Given the description of an element on the screen output the (x, y) to click on. 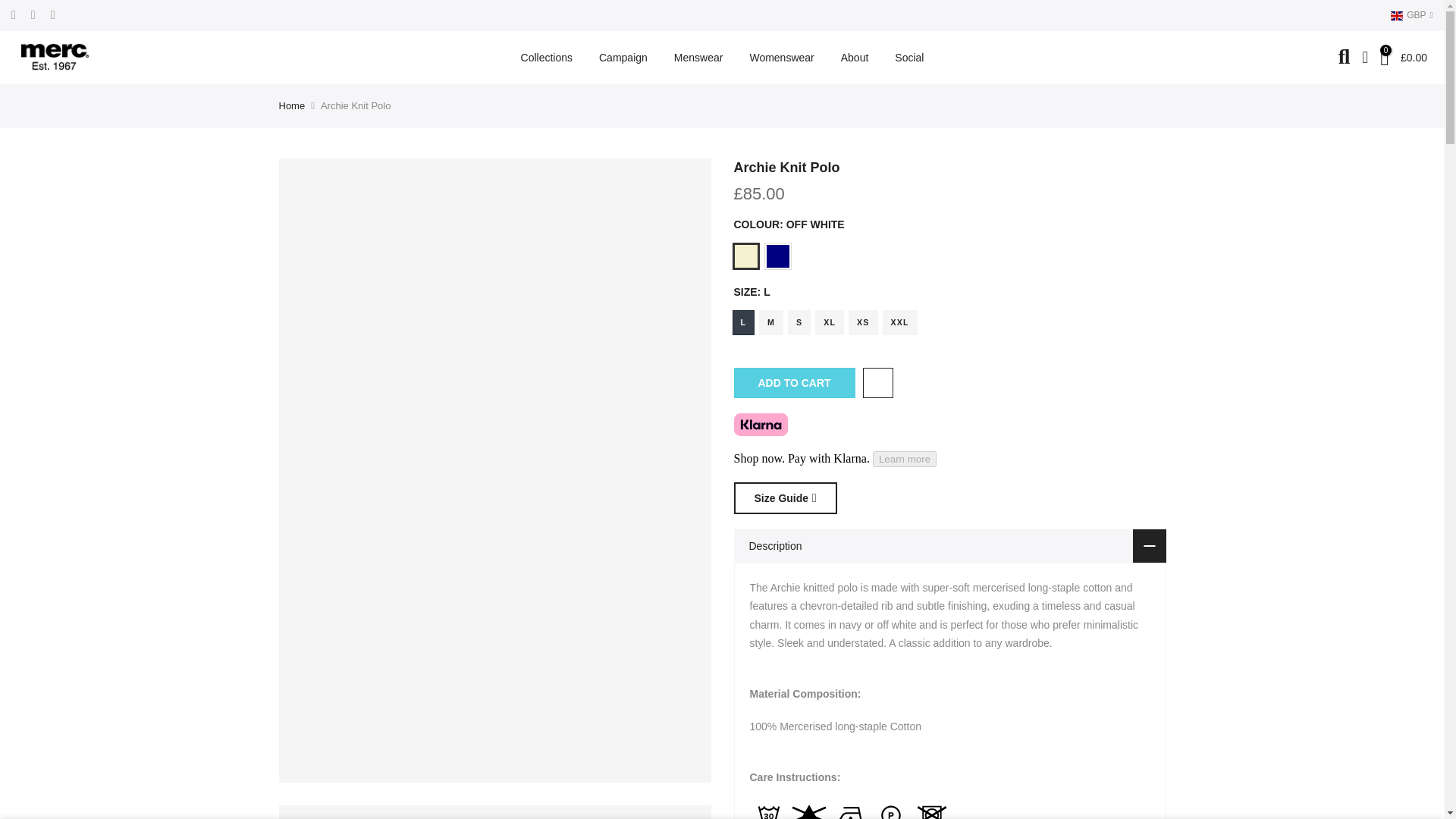
Collections (545, 57)
Do not tumble dry (931, 809)
Ironing low heat (850, 809)
Do not bleach (809, 809)
Machine washable 30 degree (768, 809)
Menswear (698, 57)
Womenswear (781, 57)
Social (909, 57)
Campaign (623, 57)
About (854, 57)
